Given the description of an element on the screen output the (x, y) to click on. 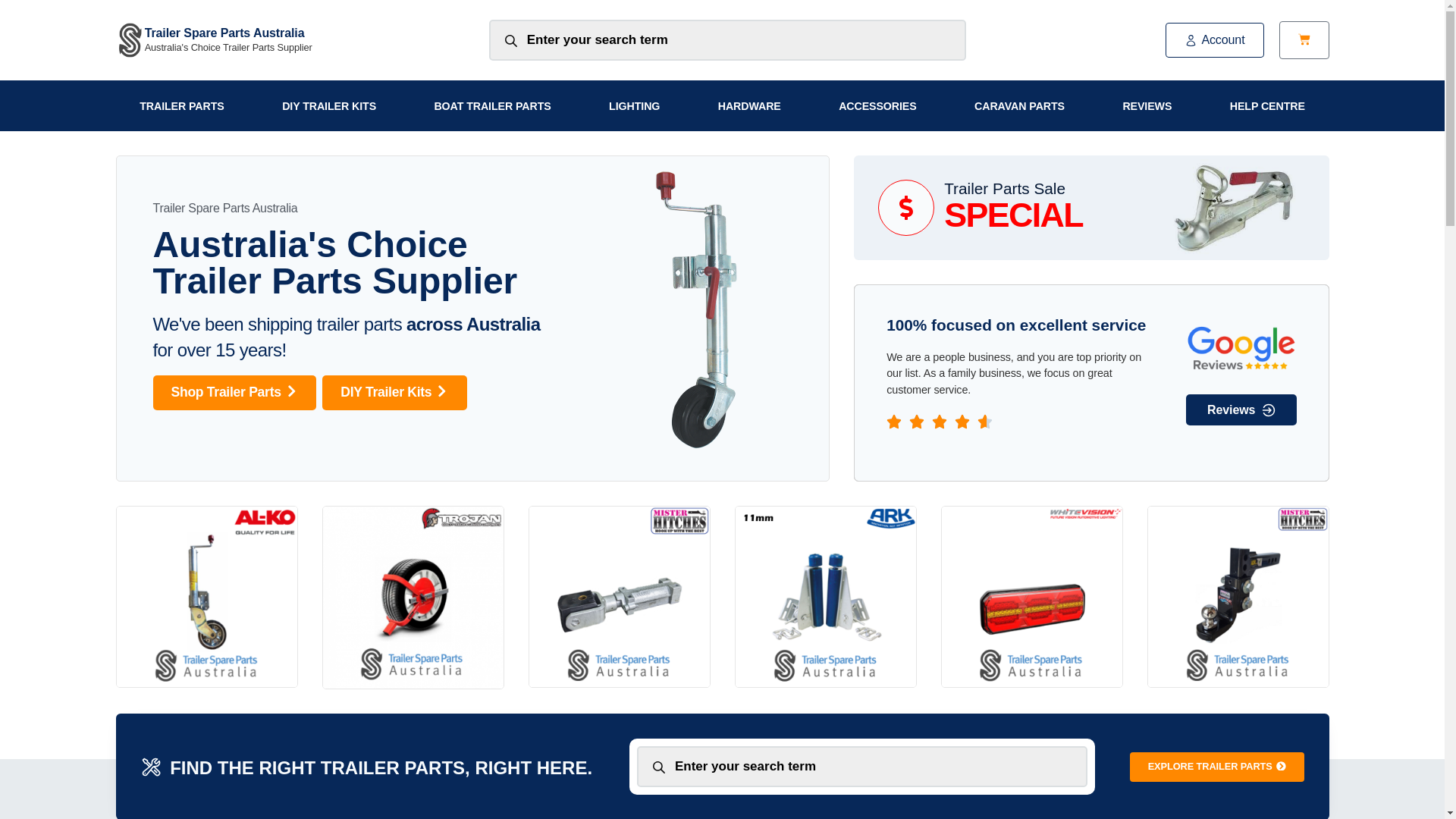
Account (1214, 40)
TRAILER PARTS (181, 104)
BOAT TRAILER PARTS (492, 104)
DIY TRAILER KITS (327, 104)
Trailer Spare Parts Australia (224, 32)
